Given the description of an element on the screen output the (x, y) to click on. 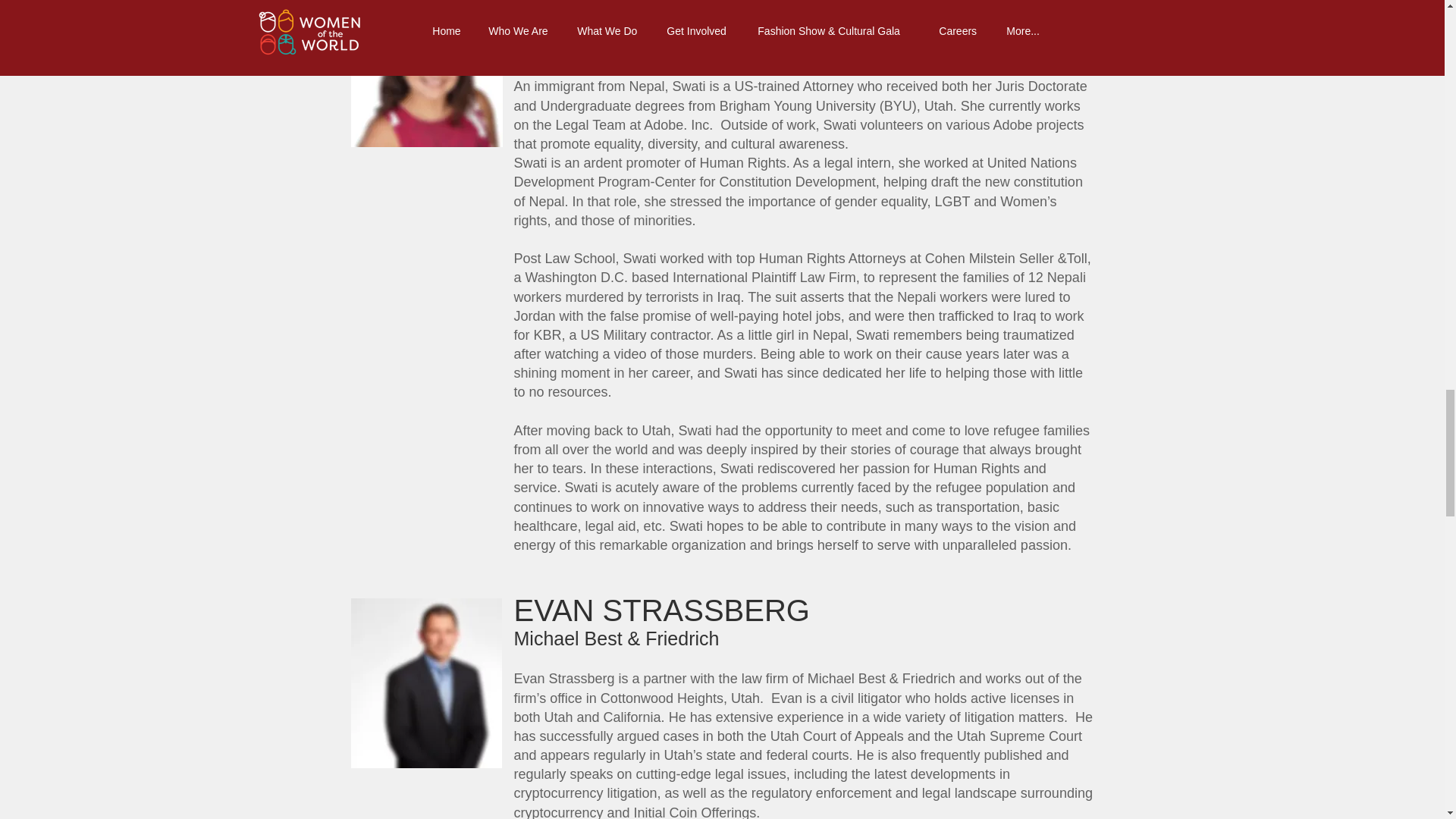
Swati.jpg (426, 76)
